Given the description of an element on the screen output the (x, y) to click on. 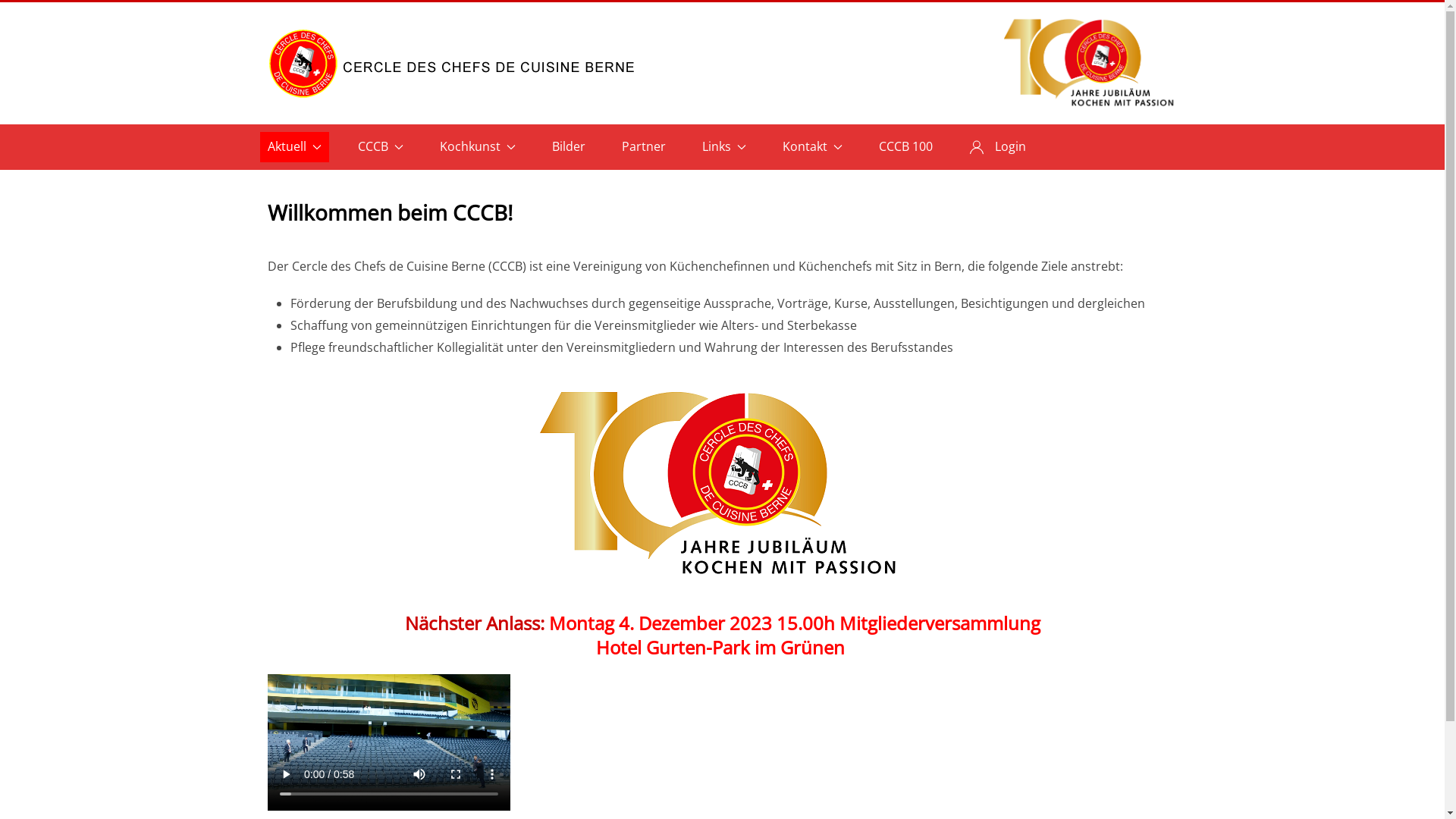
Login Element type: text (997, 146)
Partner Element type: text (643, 146)
Kontakt Element type: text (812, 146)
Kochkunst Element type: text (477, 146)
CCCB 100 Element type: text (904, 146)
CCCB Element type: text (380, 146)
Links Element type: text (724, 146)
Aktuell Element type: text (293, 146)
Bilder Element type: text (568, 146)
